Given the description of an element on the screen output the (x, y) to click on. 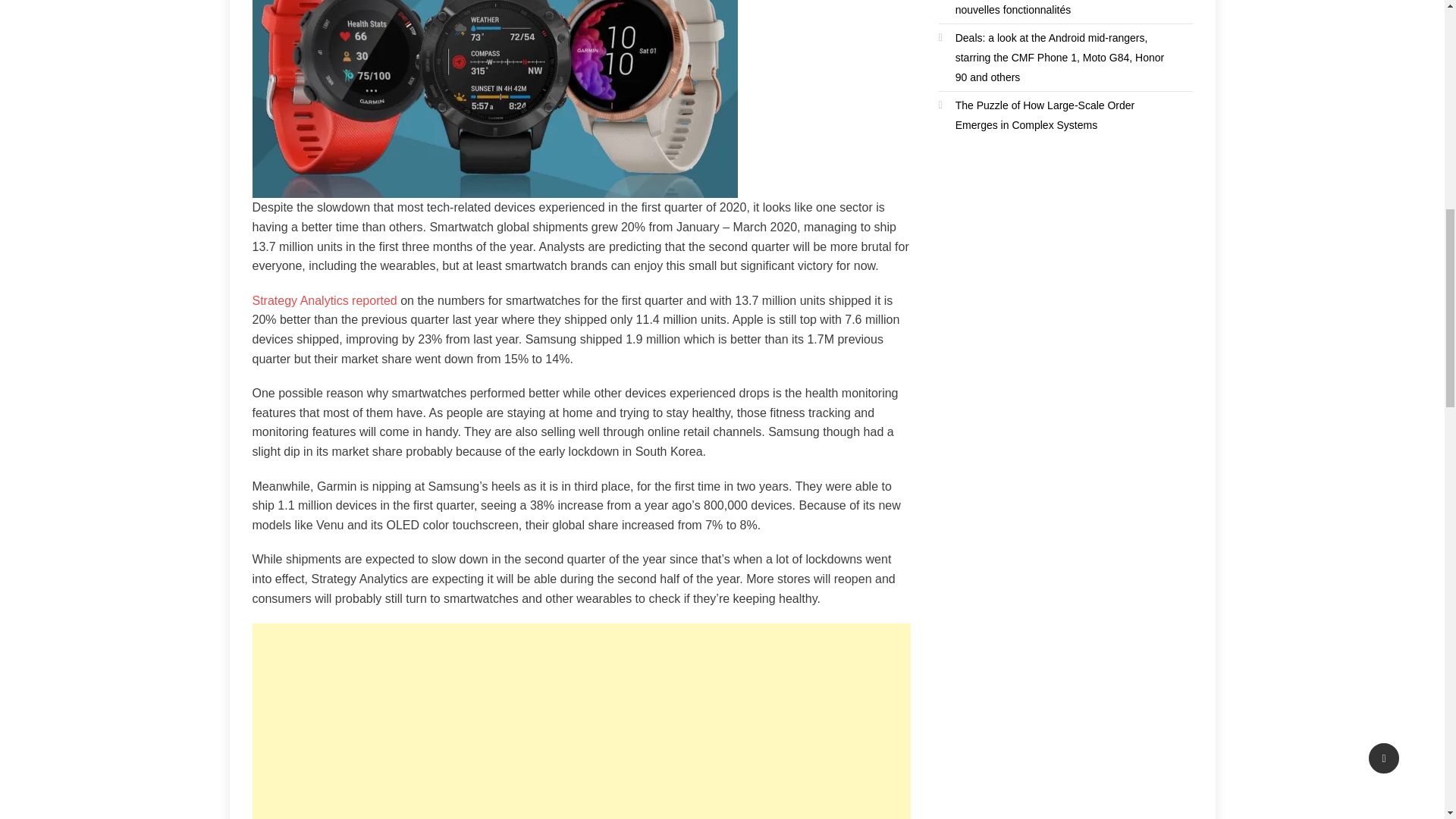
Advertisement (580, 721)
34548-original (493, 99)
